Given the description of an element on the screen output the (x, y) to click on. 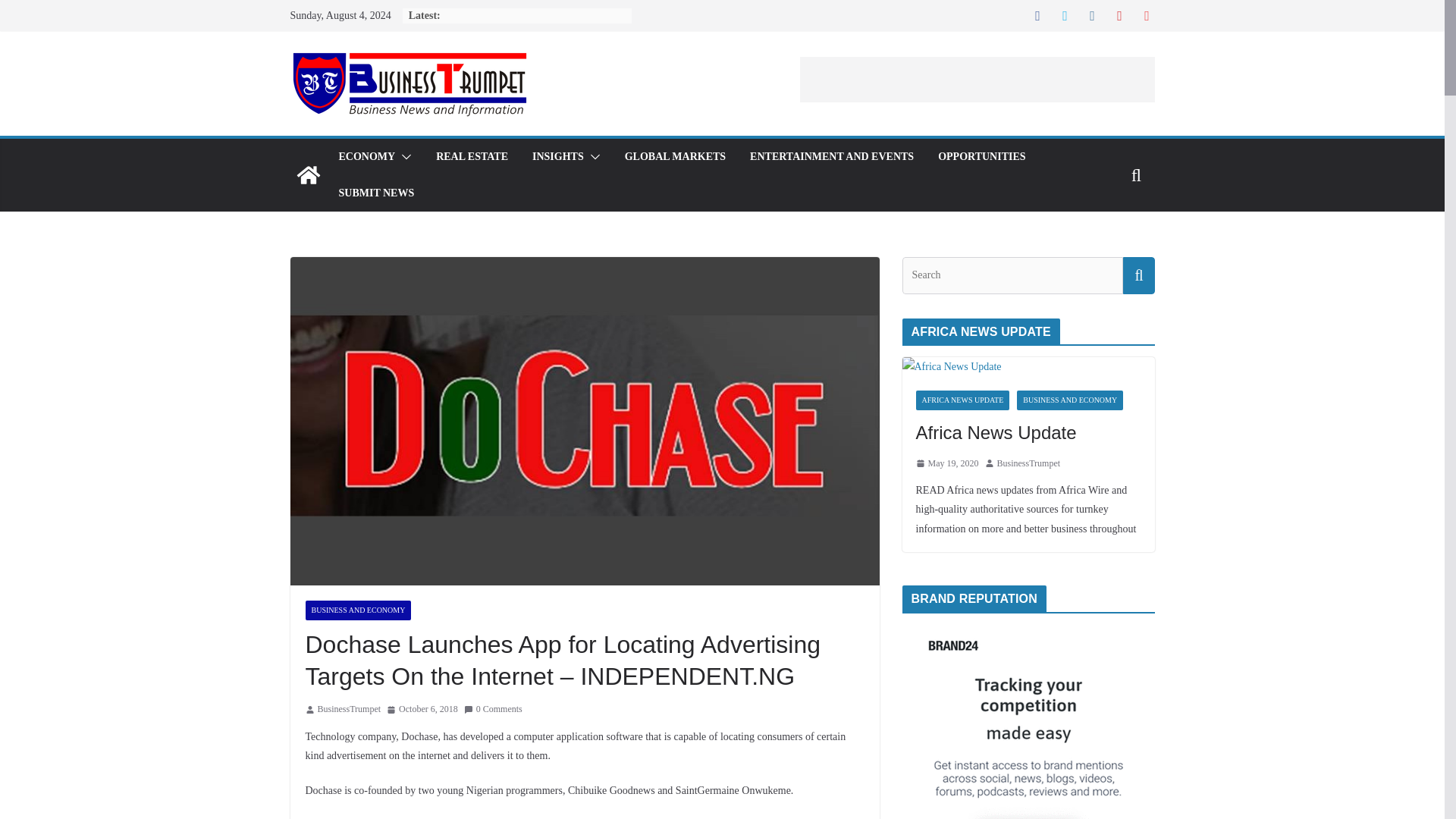
ECONOMY (365, 156)
October 6, 2018 (422, 709)
BusinessTrumpet News (307, 175)
ENTERTAINMENT AND EVENTS (831, 156)
BusinessTrumpet (348, 709)
GLOBAL MARKETS (674, 156)
INSIGHTS (557, 156)
BUSINESS AND ECONOMY (357, 609)
OPPORTUNITIES (981, 156)
10:24 am (422, 709)
REAL ESTATE (471, 156)
SUBMIT NEWS (375, 192)
BusinessTrumpet (348, 709)
0 Comments (493, 709)
